Given the description of an element on the screen output the (x, y) to click on. 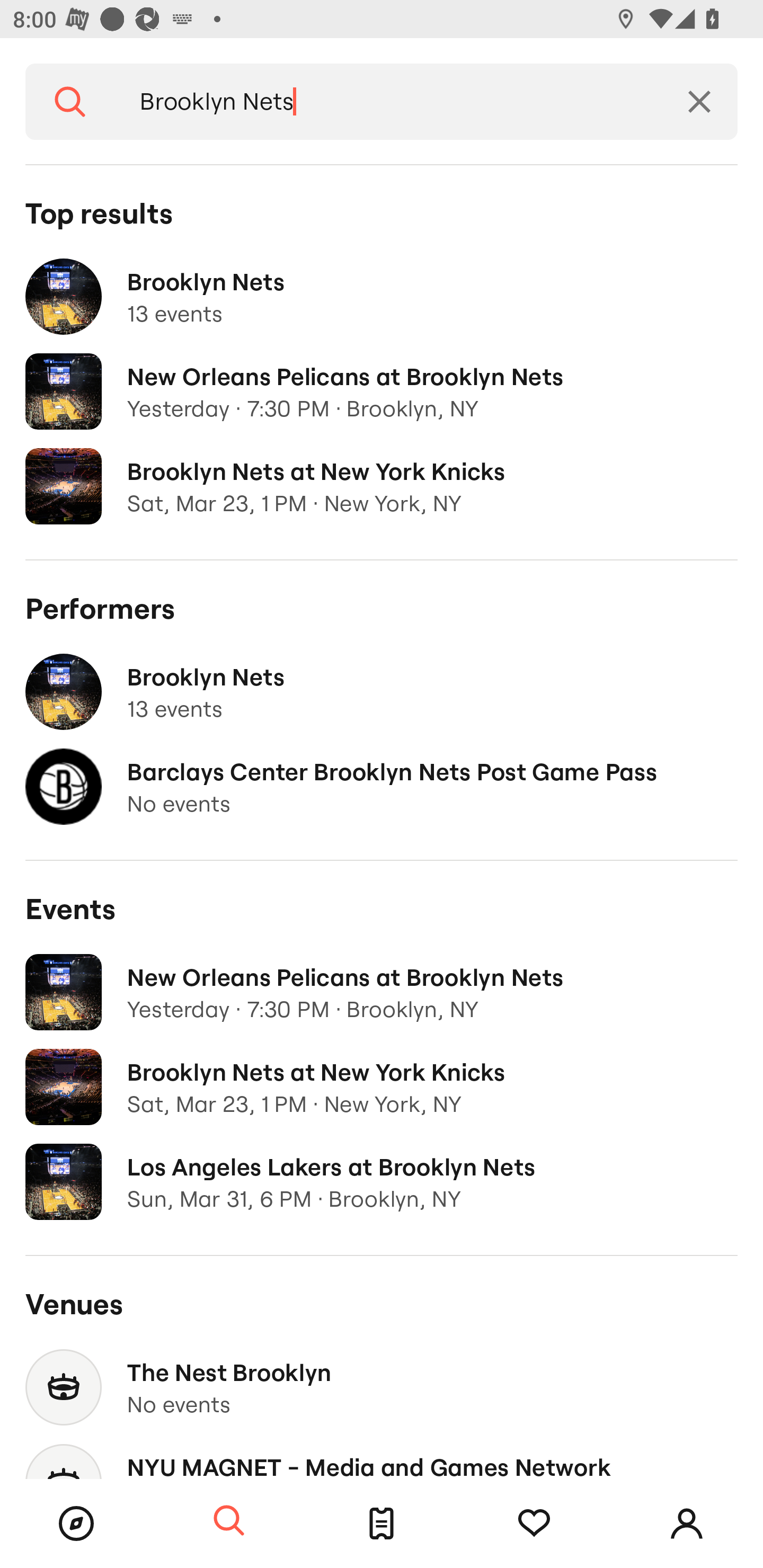
Search (69, 101)
Brooklyn Nets (387, 101)
Clear (699, 101)
Brooklyn Nets 13 events (381, 296)
Brooklyn Nets 13 events (381, 692)
The Nest Brooklyn No events (381, 1387)
Browse (76, 1523)
Search (228, 1521)
Tickets (381, 1523)
Tracking (533, 1523)
Account (686, 1523)
